Given the description of an element on the screen output the (x, y) to click on. 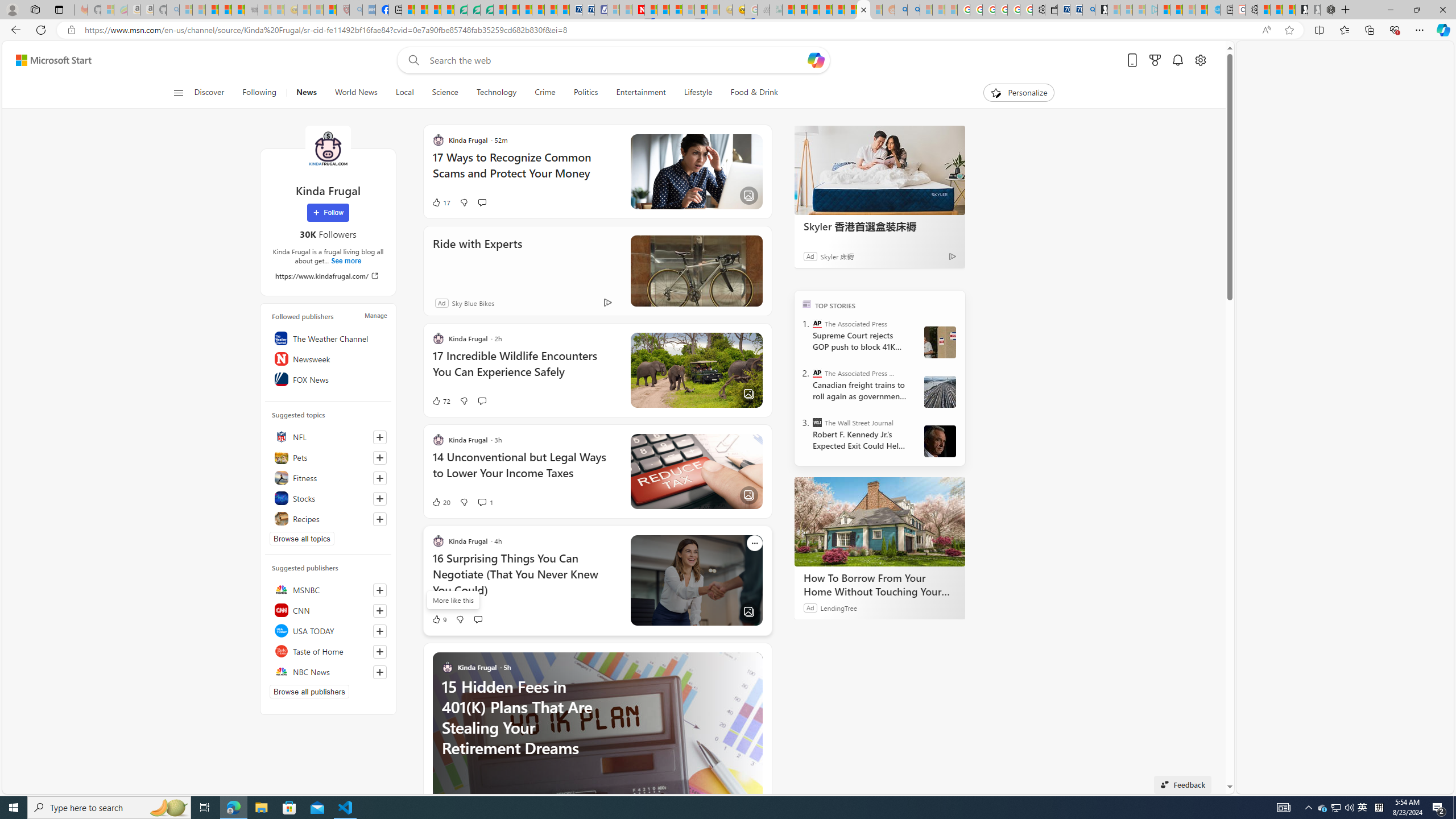
20 Like (440, 502)
Lifestyle (697, 92)
How To Borrow From Your Home Without Touching Your Mortgage (879, 521)
The Weather Channel (327, 338)
Lifestyle (698, 92)
Ride with Experts (696, 270)
Technology (496, 92)
See more (753, 660)
